Given the description of an element on the screen output the (x, y) to click on. 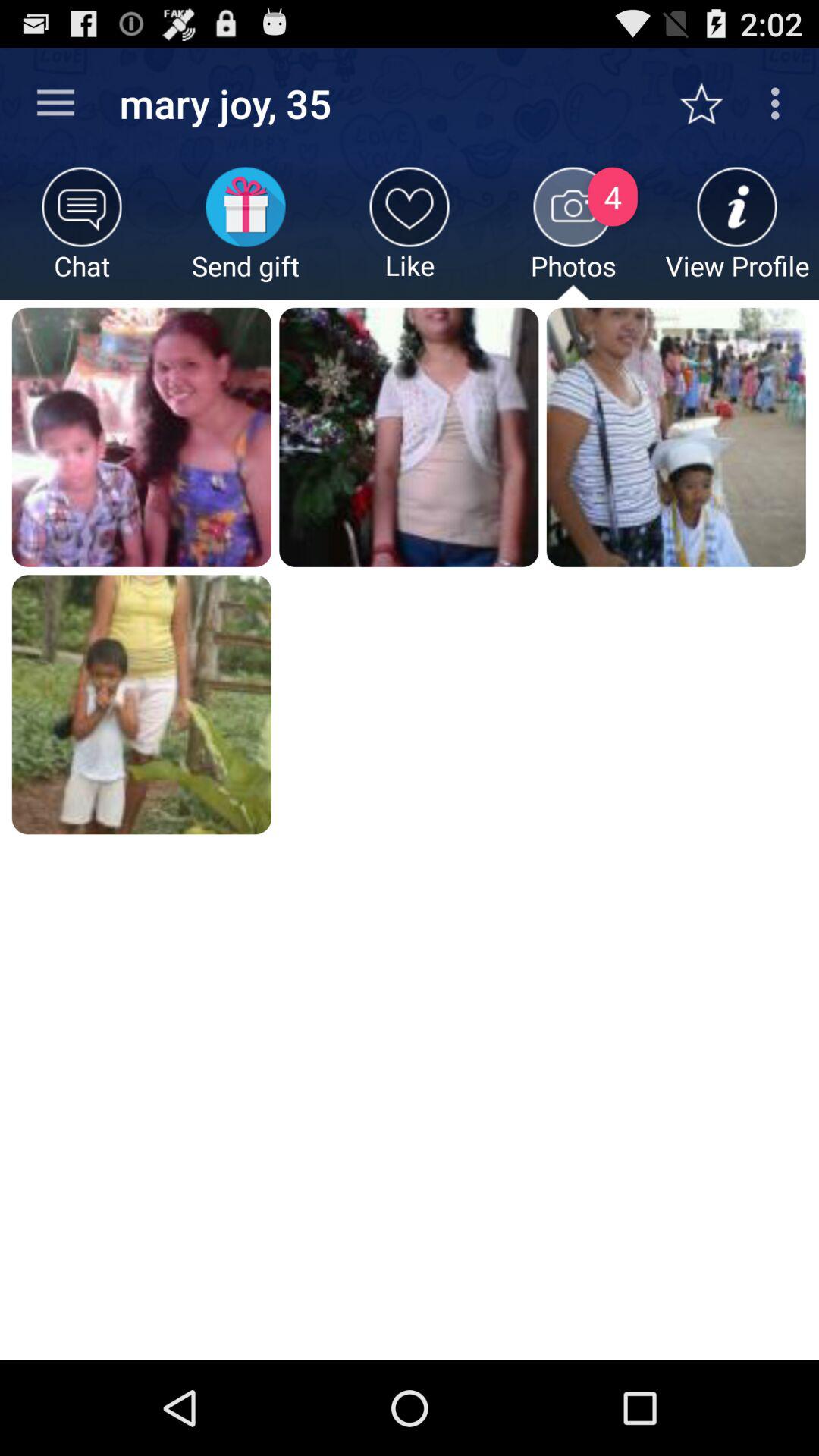
open send gift item (245, 233)
